Given the description of an element on the screen output the (x, y) to click on. 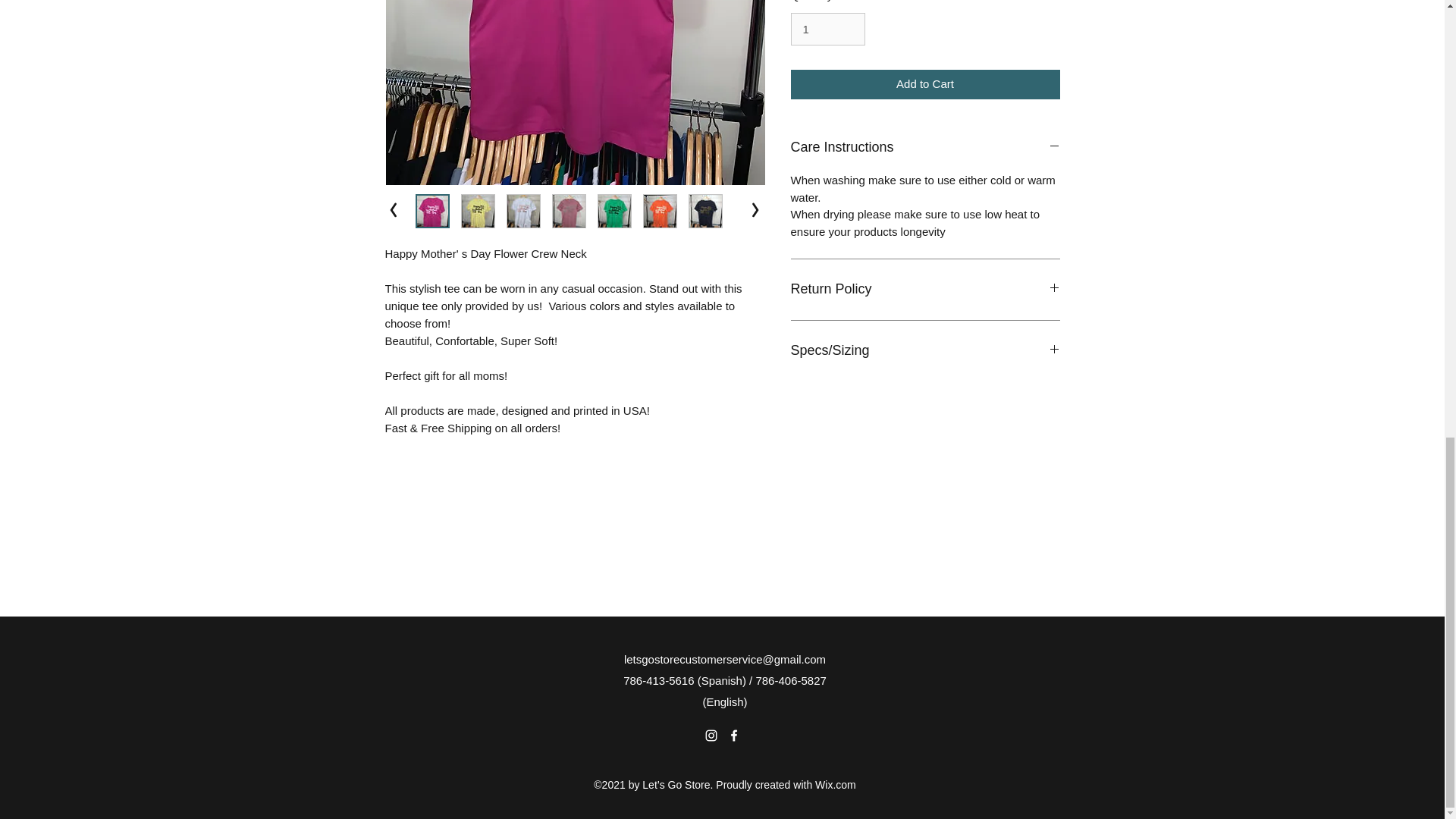
Return Policy (924, 289)
Add to Cart (924, 84)
Care Instructions (924, 147)
1 (827, 29)
